Given the description of an element on the screen output the (x, y) to click on. 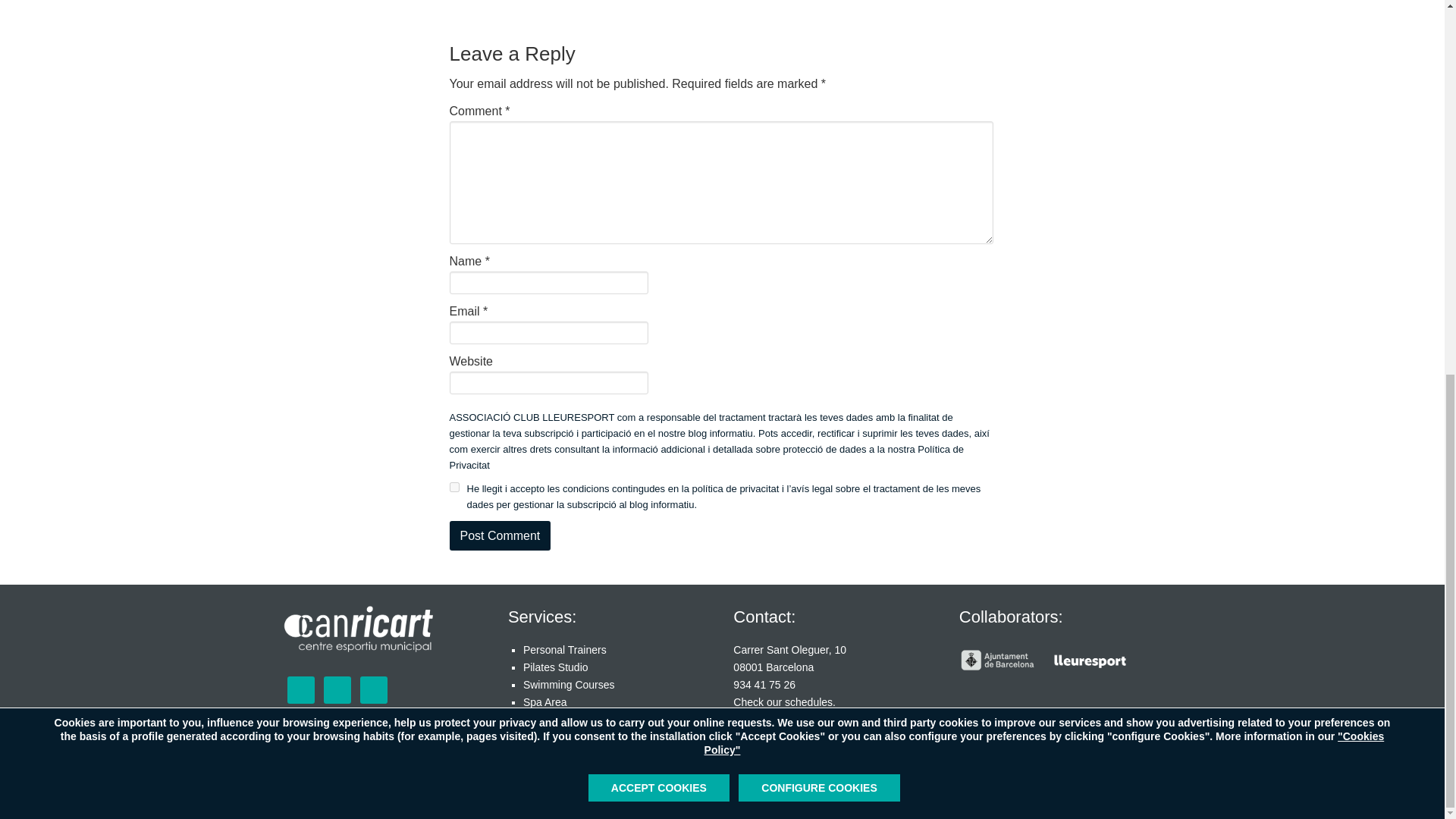
1 (453, 487)
Post Comment (499, 535)
